Given the description of an element on the screen output the (x, y) to click on. 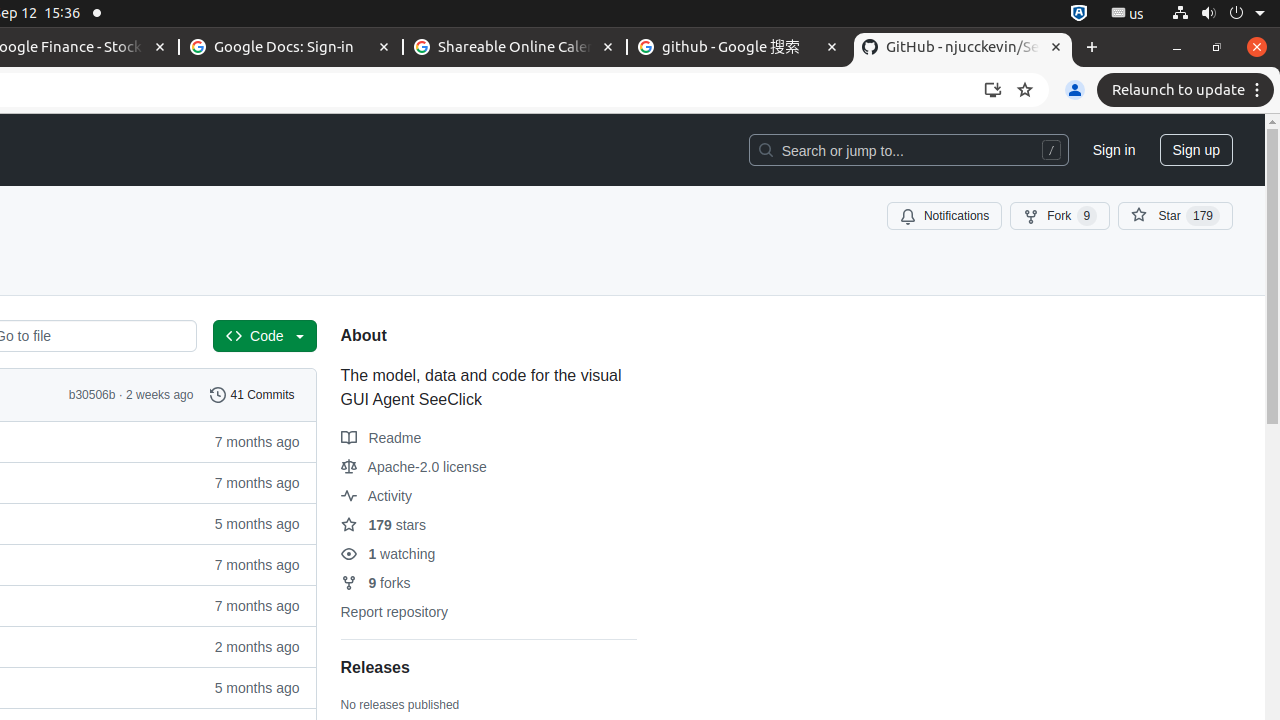
github - Google 搜索 - Memory usage - 71.9 MB Element type: page-tab (739, 47)
Activity Element type: link (376, 495)
9 forks Element type: link (375, 583)
 Readme Element type: link (381, 438)
Commit b30506b Element type: link (92, 395)
